Given the description of an element on the screen output the (x, y) to click on. 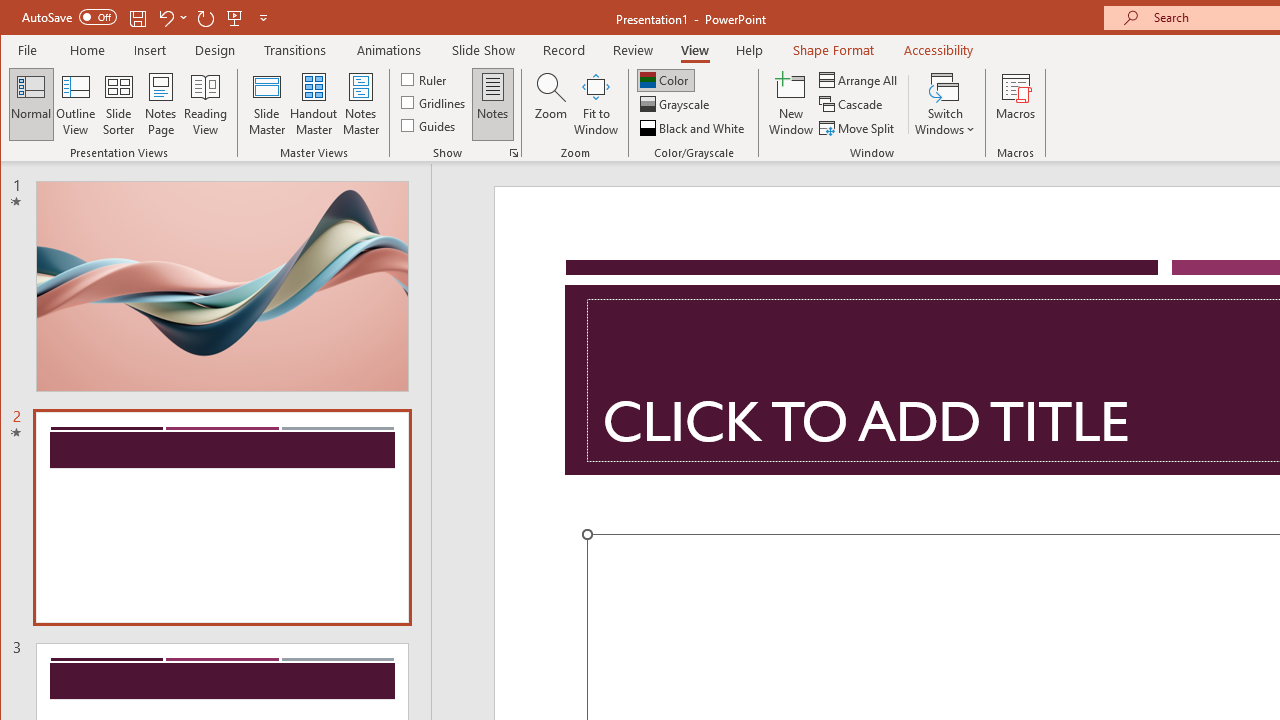
Macros (1016, 104)
Cascade (852, 103)
Ruler (425, 78)
Arrange All (859, 80)
Color (666, 80)
Guides (430, 124)
Switch Windows (944, 104)
Slide Master (266, 104)
Gridlines (435, 101)
Notes Master (360, 104)
